Given the description of an element on the screen output the (x, y) to click on. 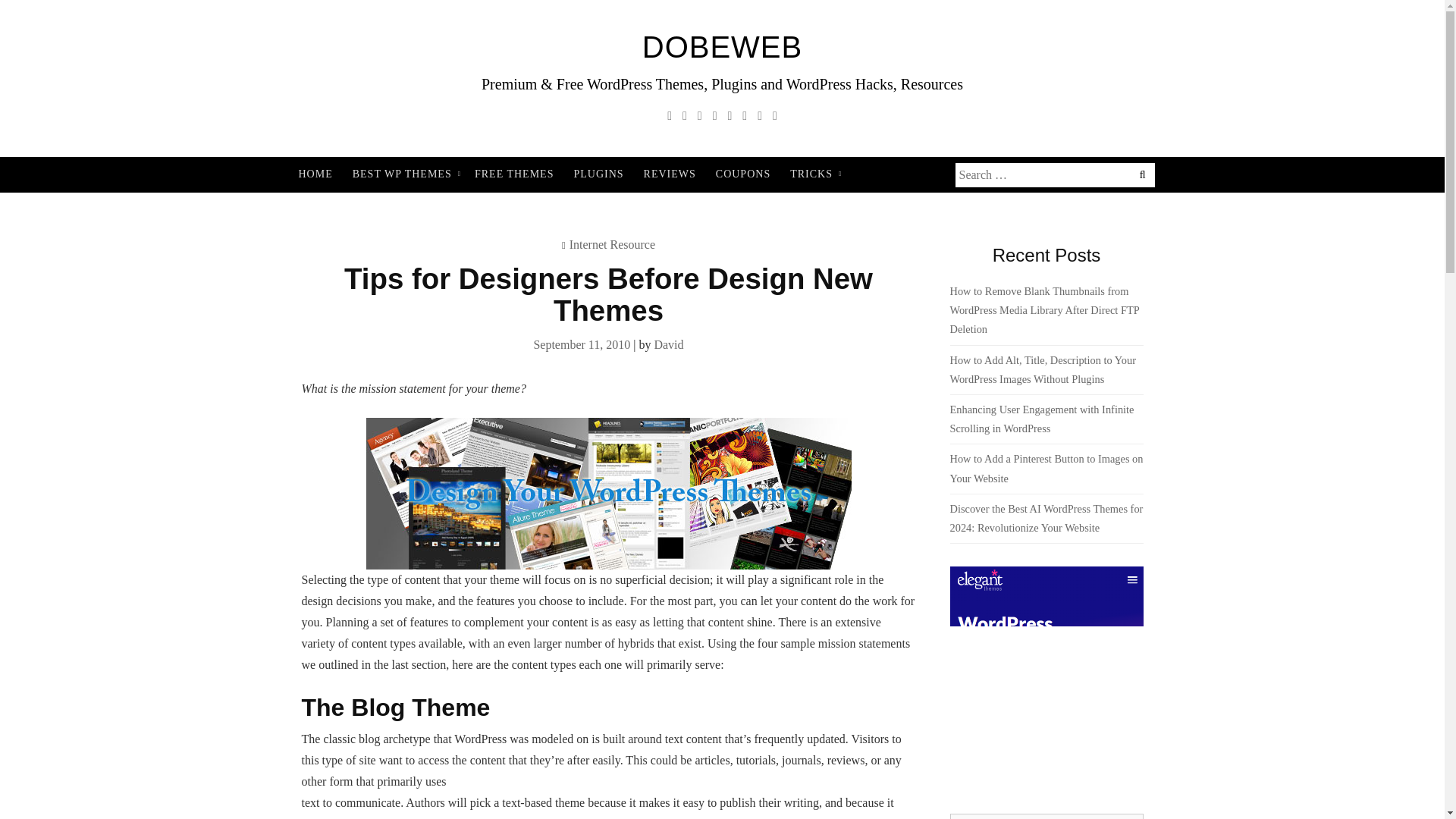
Internet Resource (612, 244)
How to Add a Pinterest Button to Images on Your Website (1045, 468)
COUPONS (742, 174)
Free WordPress Themes (513, 174)
REVIEWS (669, 174)
wordpress-theme-design (607, 493)
DOBEWEB (722, 46)
